Given the description of an element on the screen output the (x, y) to click on. 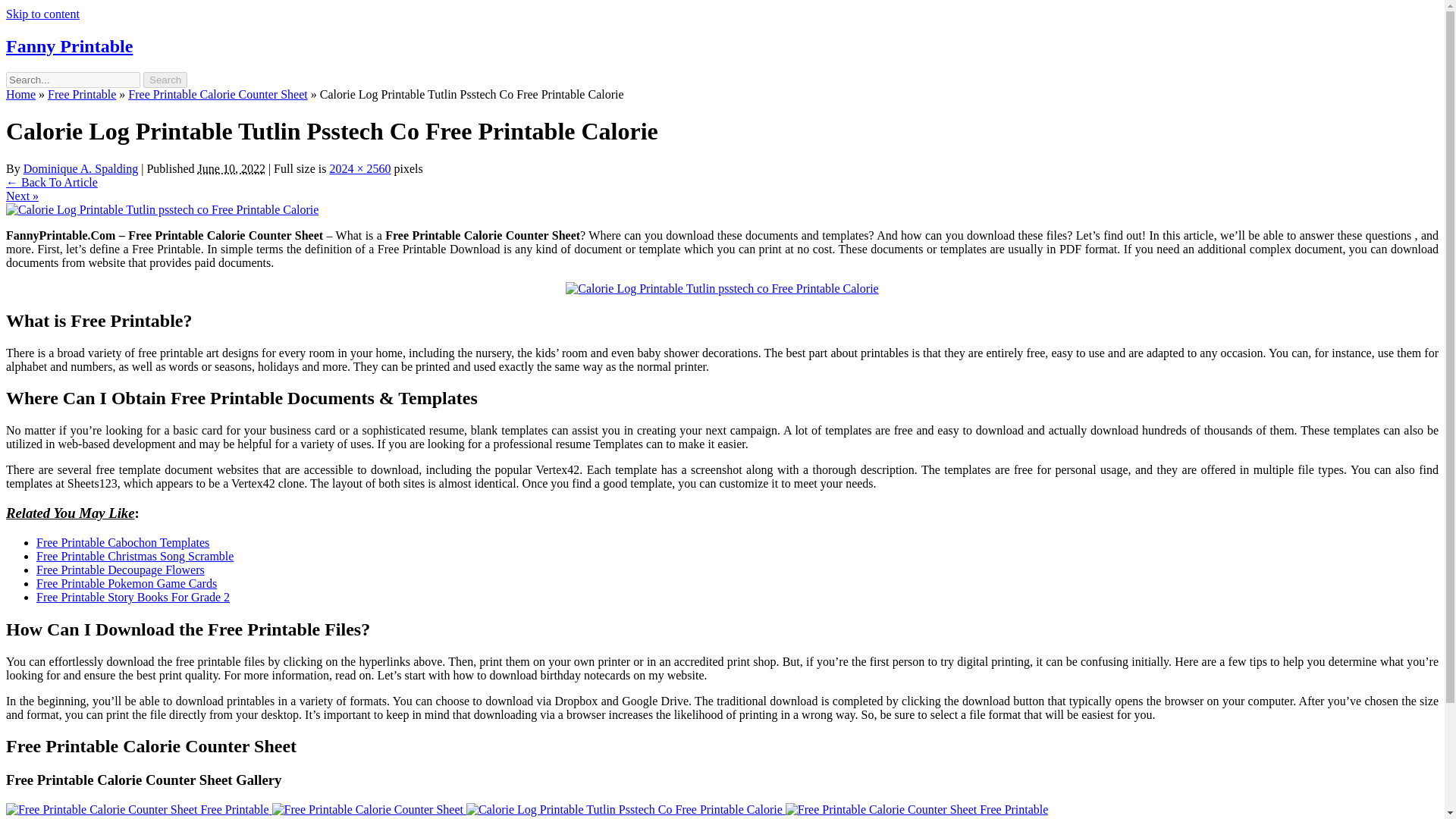
Free Printable Christmas Song Scramble (134, 555)
Home (19, 93)
Search for: (72, 79)
Free Printable Calorie Counter Sheet Free Printable (137, 809)
Free Printable Calorie Counter Sheet Free Printable (138, 809)
Link to full-size image (359, 168)
Free Printable Calorie Counter Sheet (368, 809)
Free Printable Calorie Counter Sheet (367, 809)
